Given the description of an element on the screen output the (x, y) to click on. 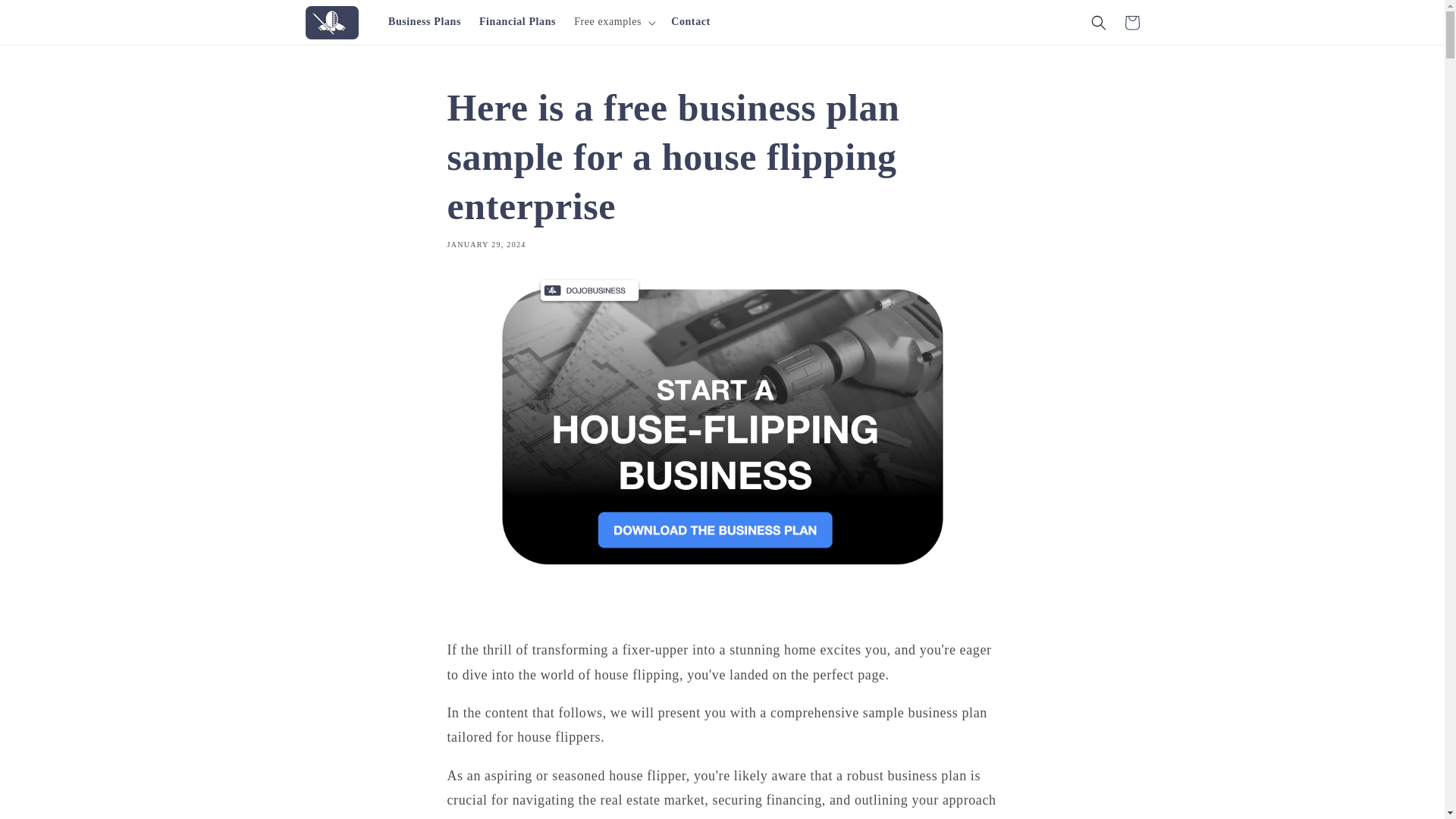
Skip to content (45, 17)
Contact (690, 21)
Business Plans (424, 21)
Financial Plans (517, 21)
Cart (1131, 22)
